Given the description of an element on the screen output the (x, y) to click on. 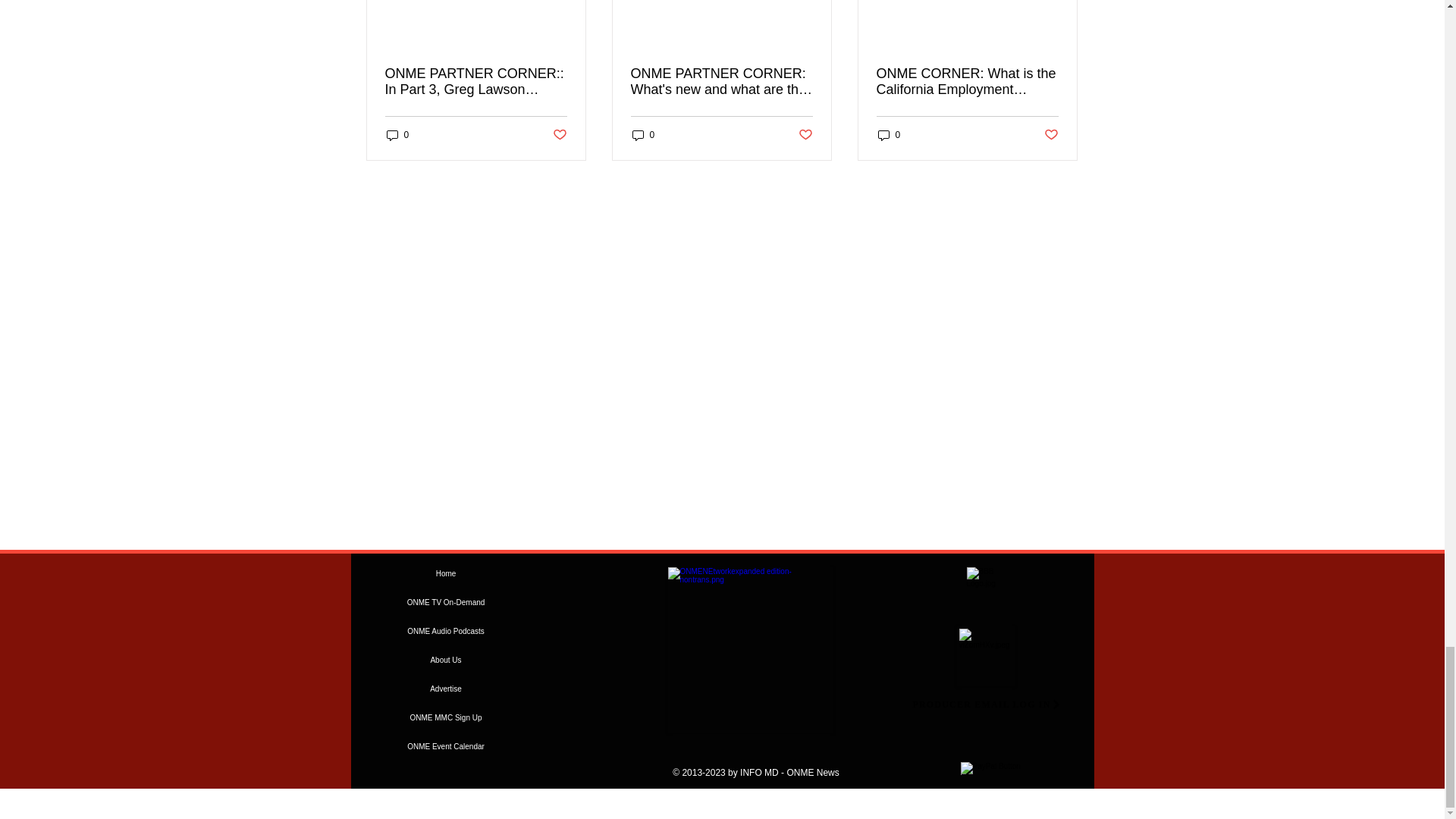
ONMElogoNew1-nontrans.png (749, 649)
